Given the description of an element on the screen output the (x, y) to click on. 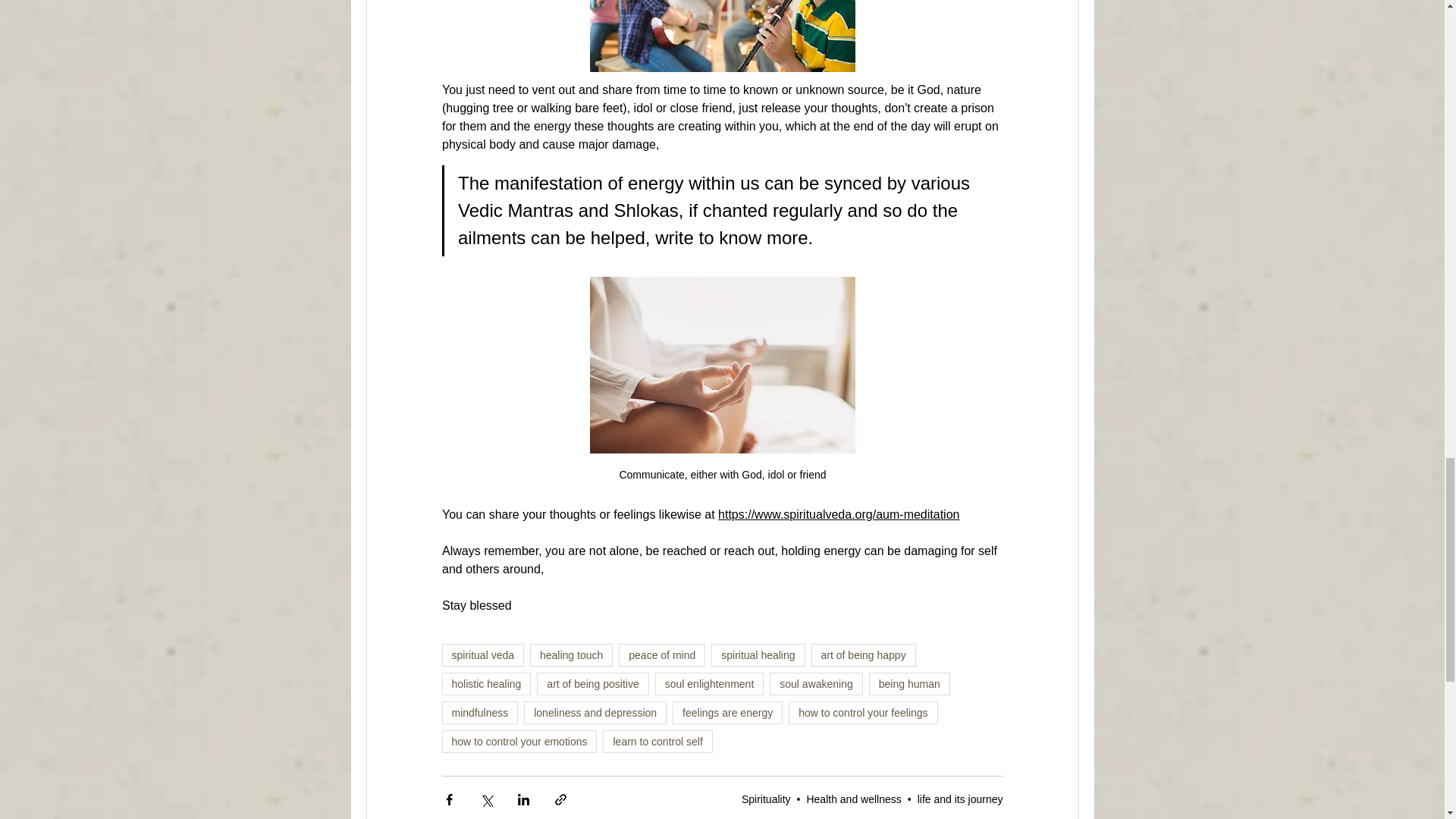
healing touch (570, 654)
art of being positive (592, 683)
spiritual healing (758, 654)
soul enlightenment (709, 683)
being human (909, 683)
holistic healing (486, 683)
mindfulness (479, 712)
loneliness and depression (595, 712)
spiritual veda (482, 654)
soul awakening (816, 683)
peace of mind (661, 654)
art of being happy (862, 654)
